Given the description of an element on the screen output the (x, y) to click on. 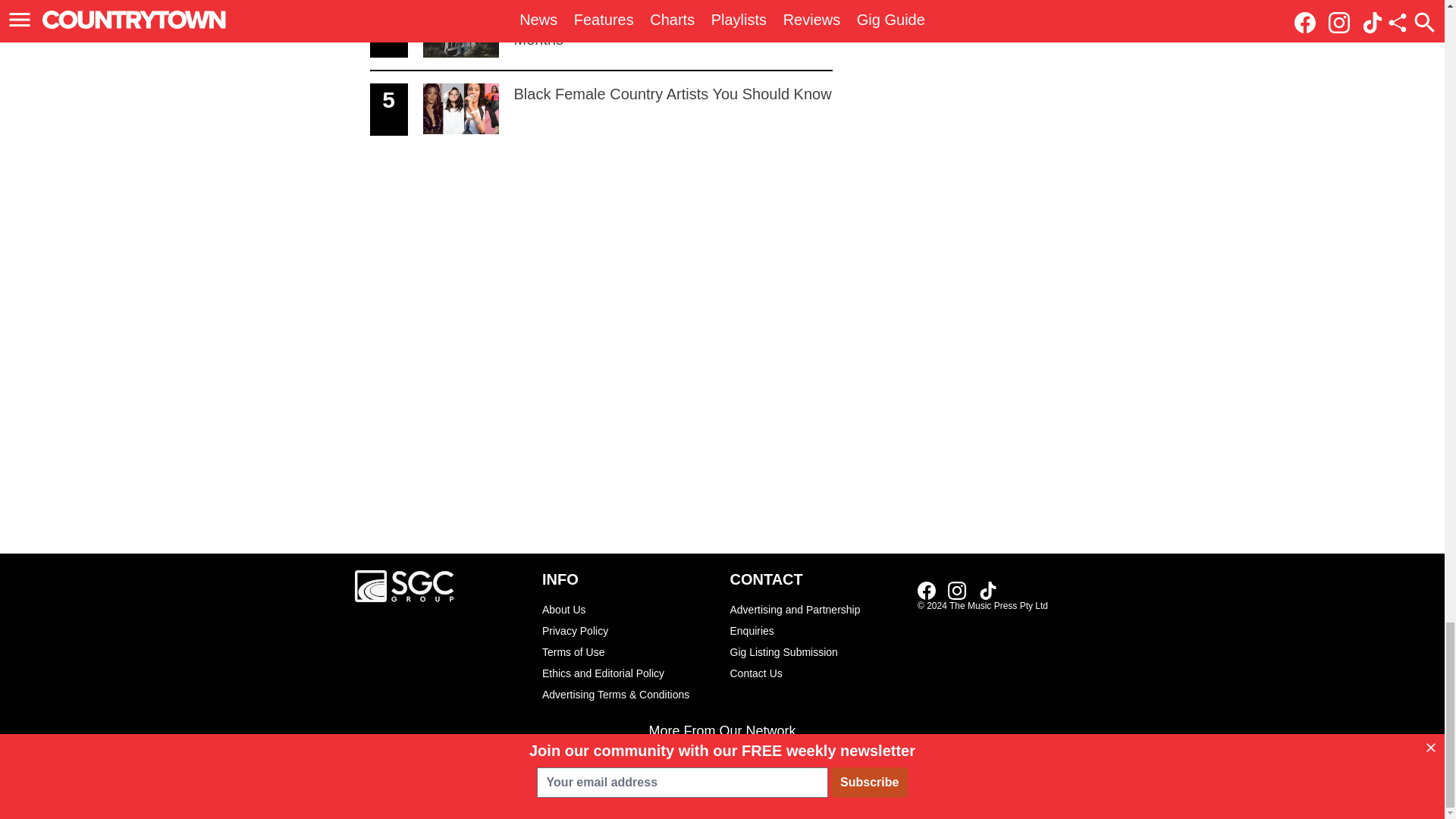
Link to our TikTok (600, 109)
Link to our Facebook (987, 590)
Link to our Instagram (600, 36)
Black Female Country Artists You Should Know (926, 590)
